Given the description of an element on the screen output the (x, y) to click on. 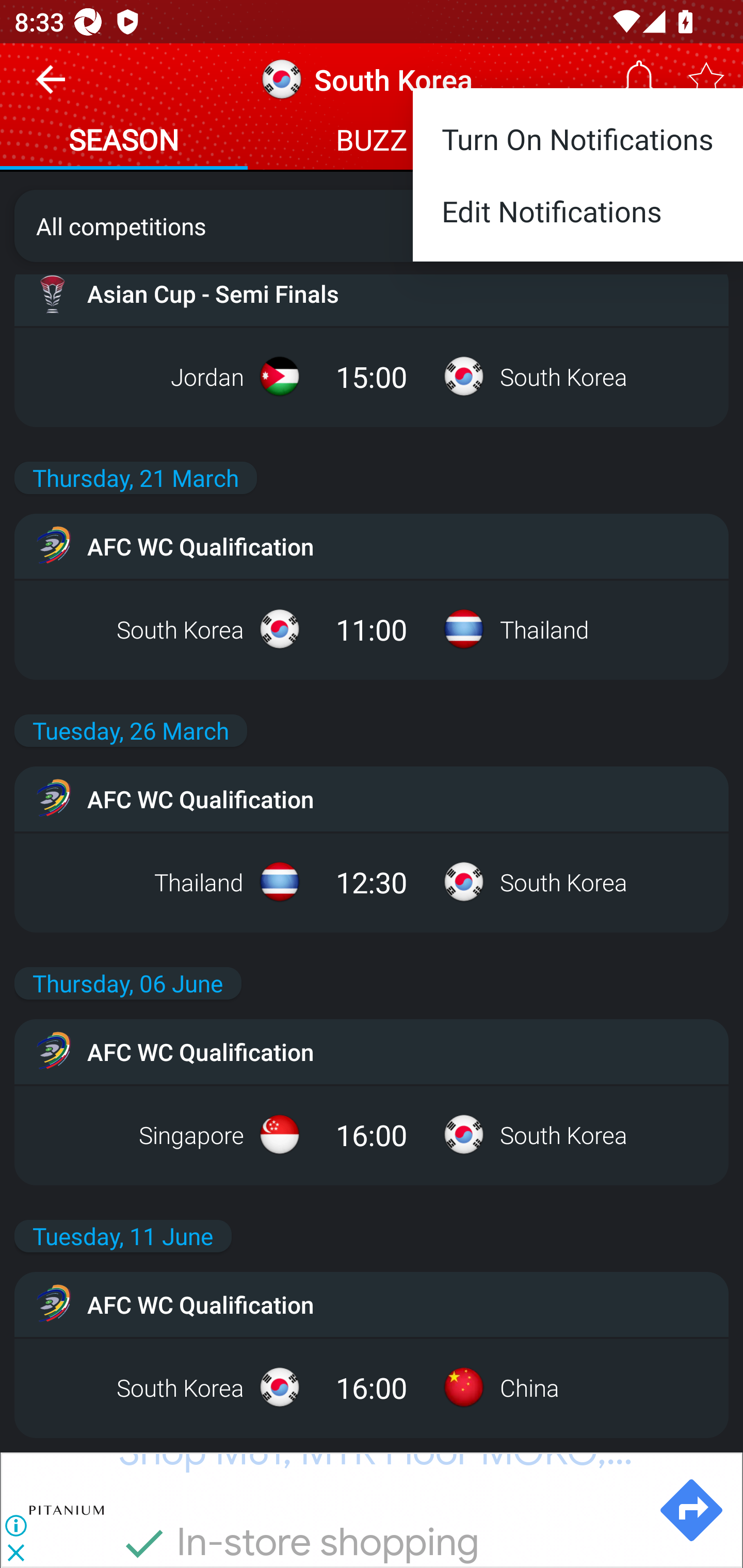
Turn On Notifications (578, 131)
Edit Notifications (578, 218)
